Given the description of an element on the screen output the (x, y) to click on. 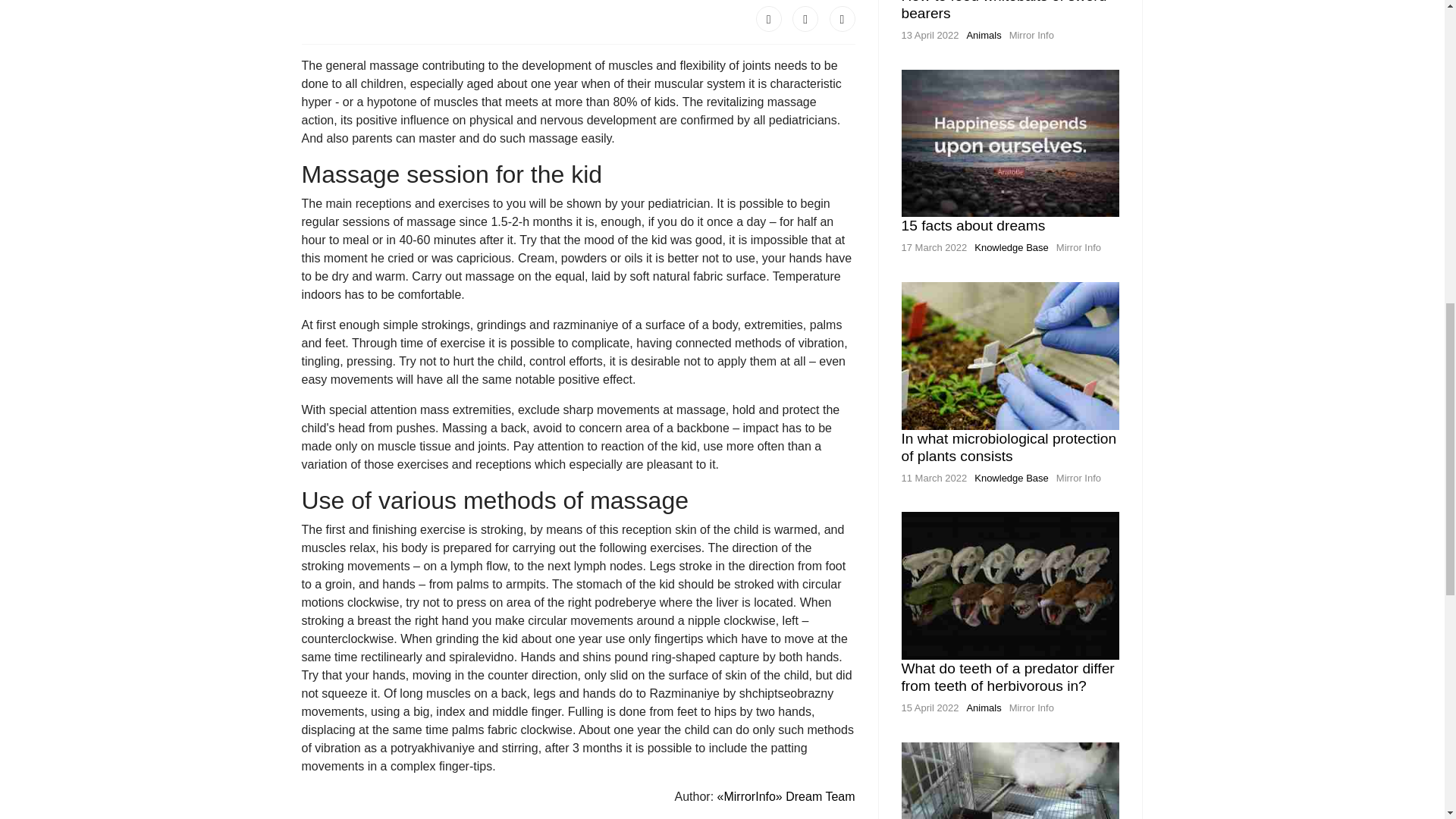
How to feed whitebaits of sword-bearers (1005, 10)
Twitter (805, 18)
Knowledge Base (1011, 247)
LinkedIn (842, 18)
Knowledge Base (1011, 478)
Facebook (768, 18)
Animals (983, 34)
In what microbiological protection of plants consists (1008, 447)
15 facts about dreams (973, 225)
